Given the description of an element on the screen output the (x, y) to click on. 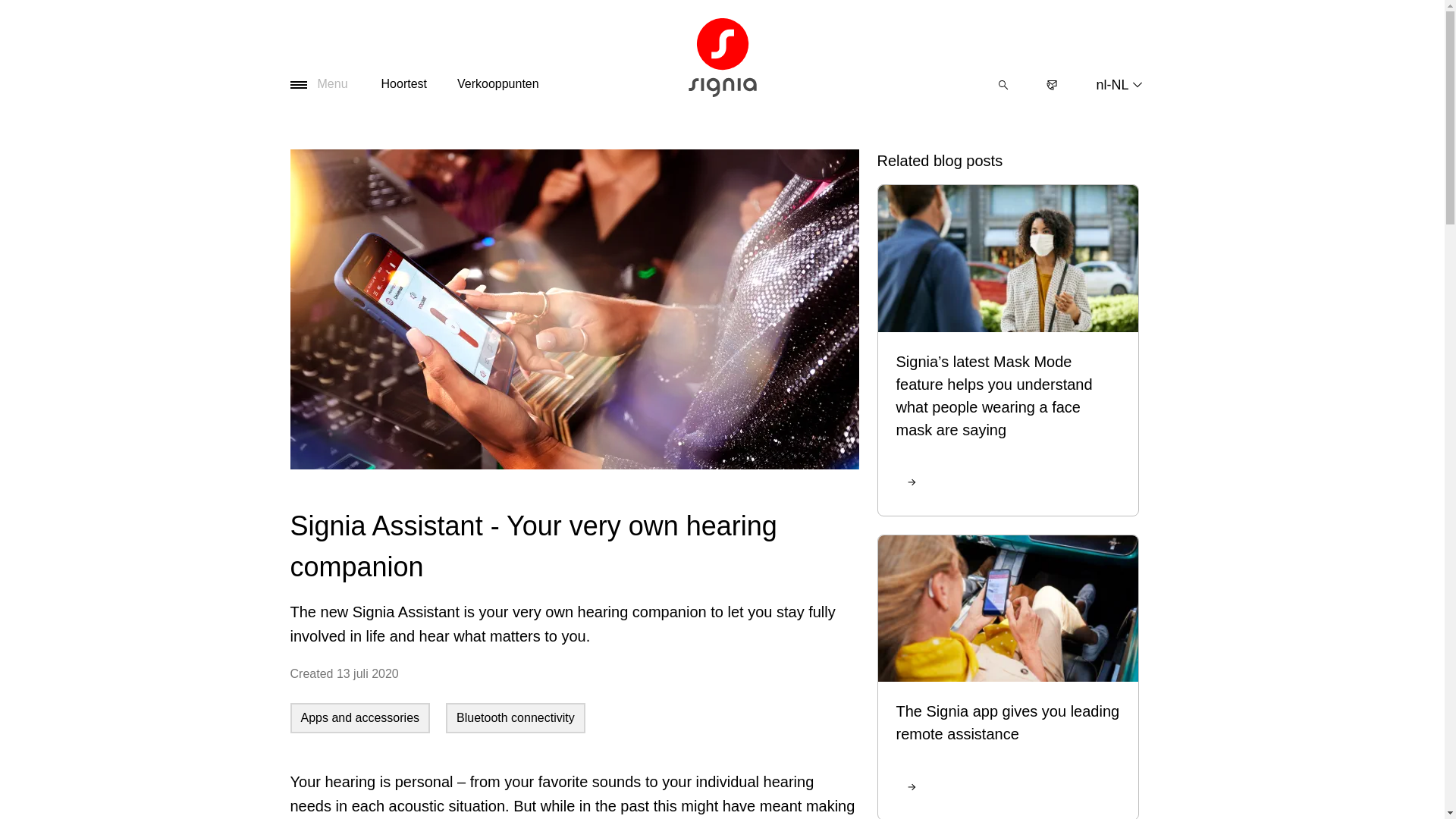
Hoortest (404, 85)
Verkooppunten (498, 85)
The Signia app gives you leading remote assistance (1007, 668)
Menu (318, 84)
nl-NL (1119, 84)
